Given the description of an element on the screen output the (x, y) to click on. 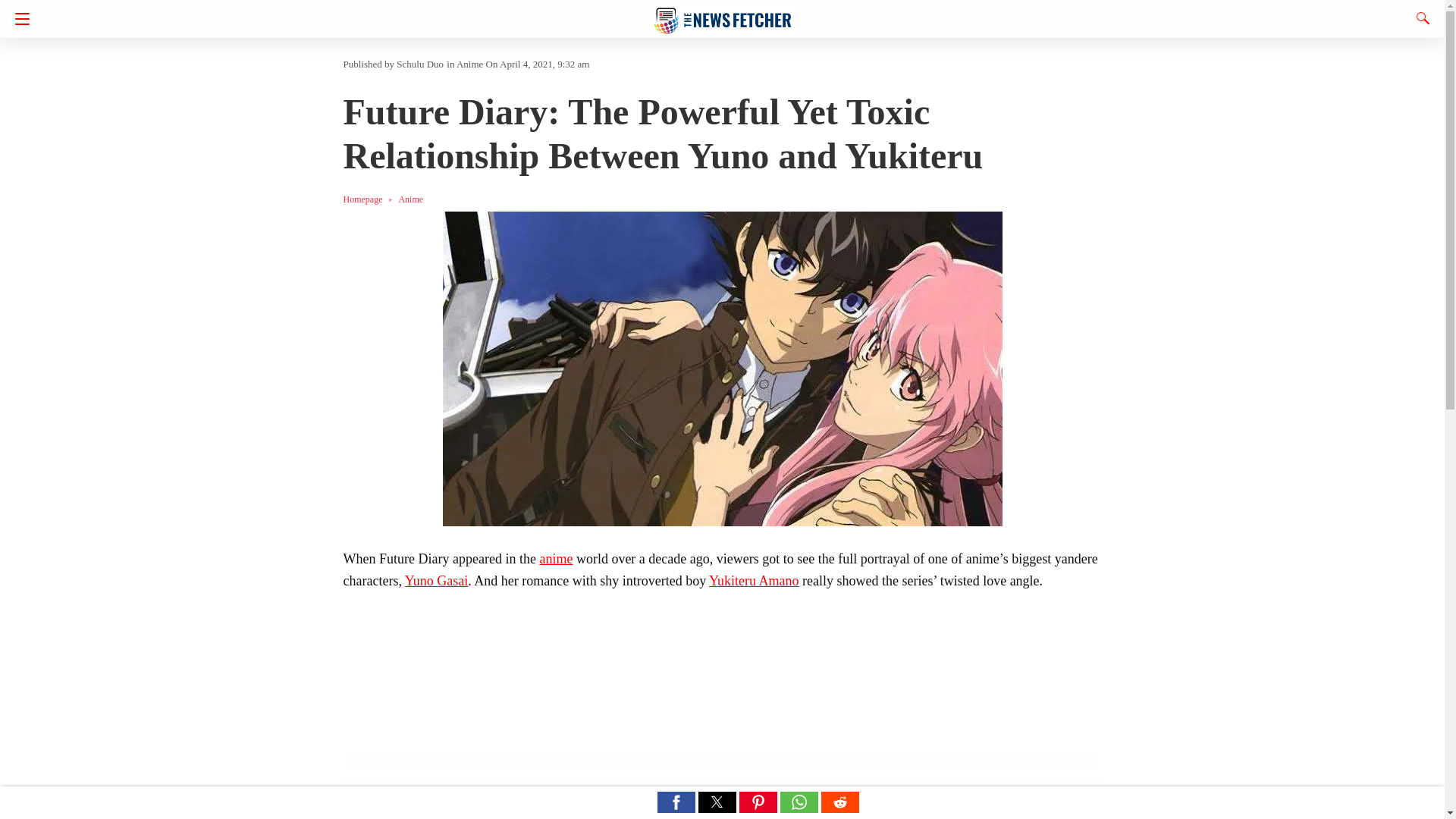
Homepage (369, 199)
Yukiteru Amano (754, 580)
Homepage (369, 199)
Anime (470, 63)
anime (555, 558)
The News Fetcher (722, 14)
Anime (410, 199)
Yuno Gasai (436, 580)
Anime (410, 199)
